Given the description of an element on the screen output the (x, y) to click on. 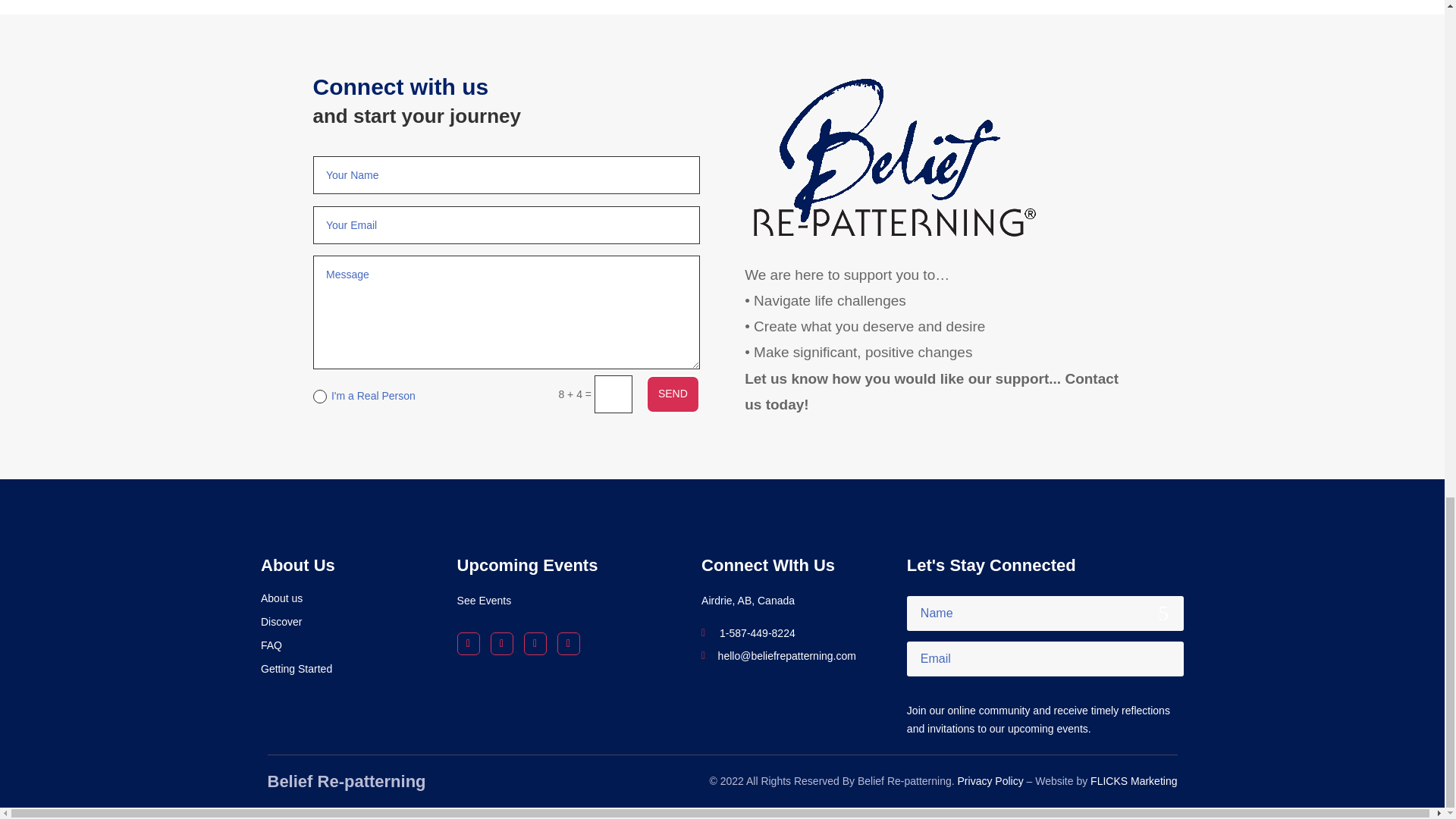
Follow on LinkedIn (501, 643)
Follow on Instagram (535, 643)
Follow on Facebook (468, 643)
Follow on Youtube (568, 643)
